Given the description of an element on the screen output the (x, y) to click on. 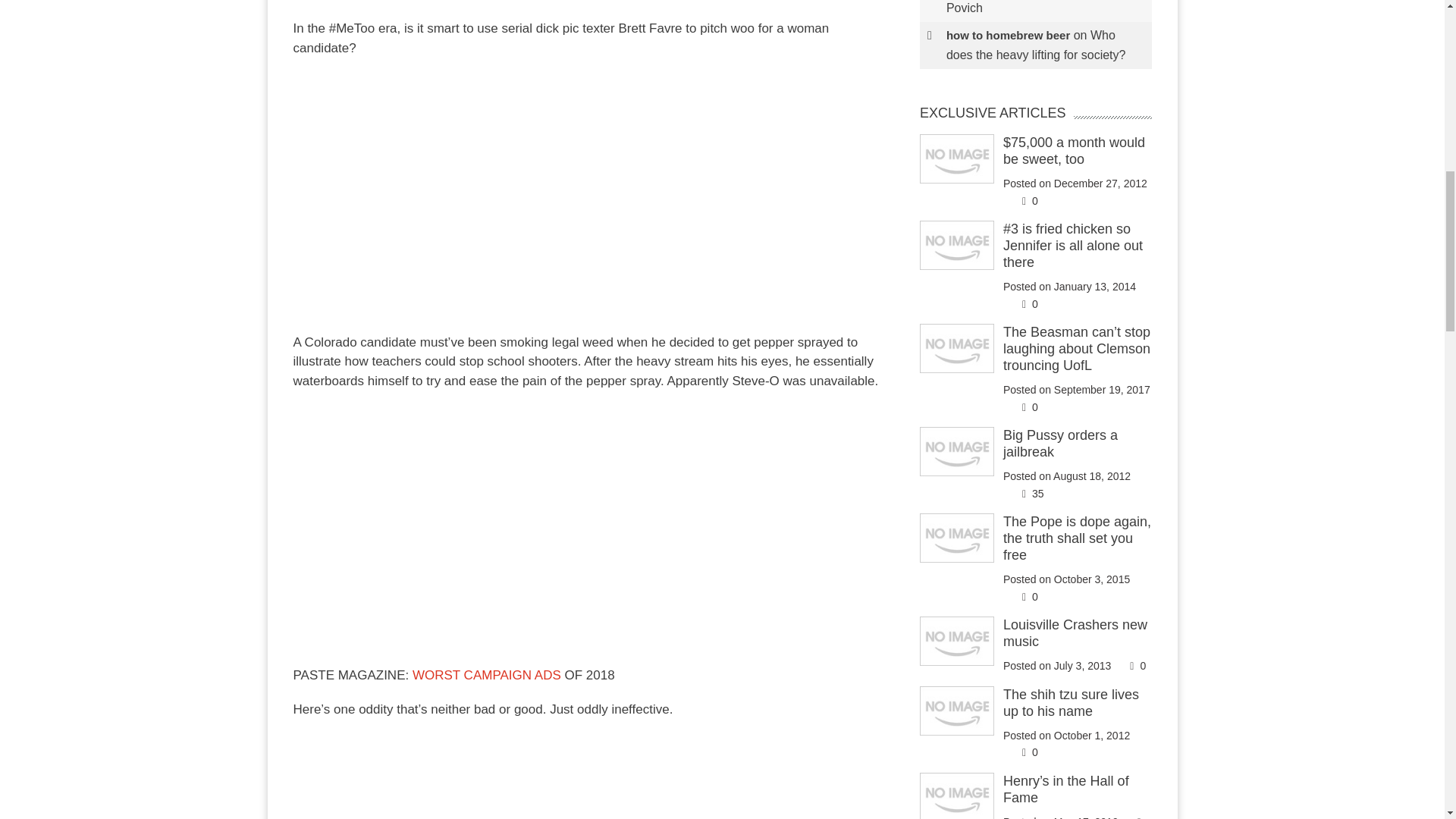
WORST CAMPAIGN ADS (486, 675)
